Given the description of an element on the screen output the (x, y) to click on. 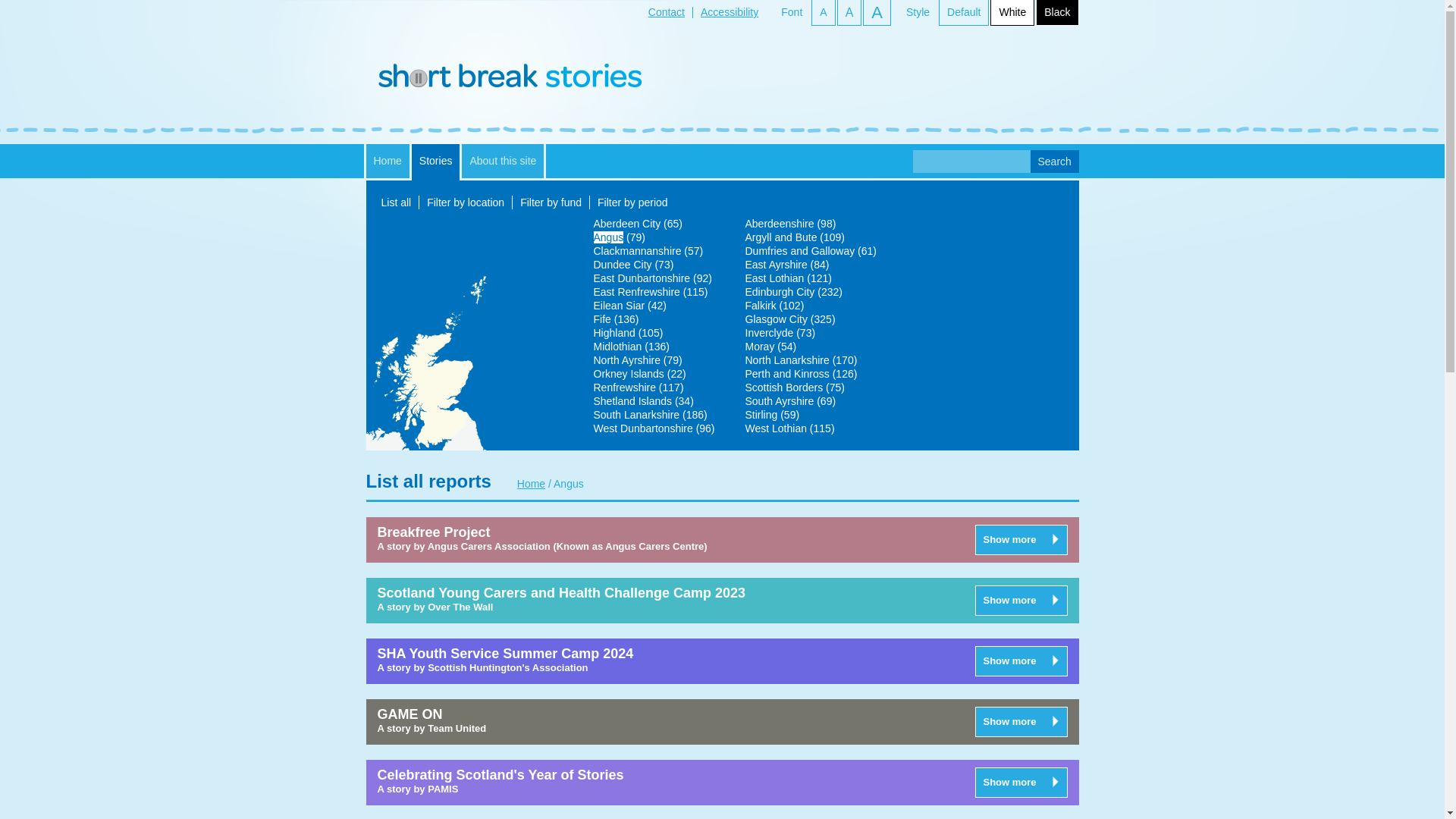
Search (1053, 160)
Contact (665, 11)
Aberdeen City (626, 223)
Aberdeenshire (778, 223)
About this site (502, 161)
Filter by period (632, 202)
List all (395, 202)
Moray (759, 346)
East Dunbartonshire (641, 277)
East Renfrewshire (635, 291)
North Ayrshire (625, 359)
Accessibility (729, 11)
Highland (613, 332)
Fife (601, 318)
Falkirk (760, 305)
